Given the description of an element on the screen output the (x, y) to click on. 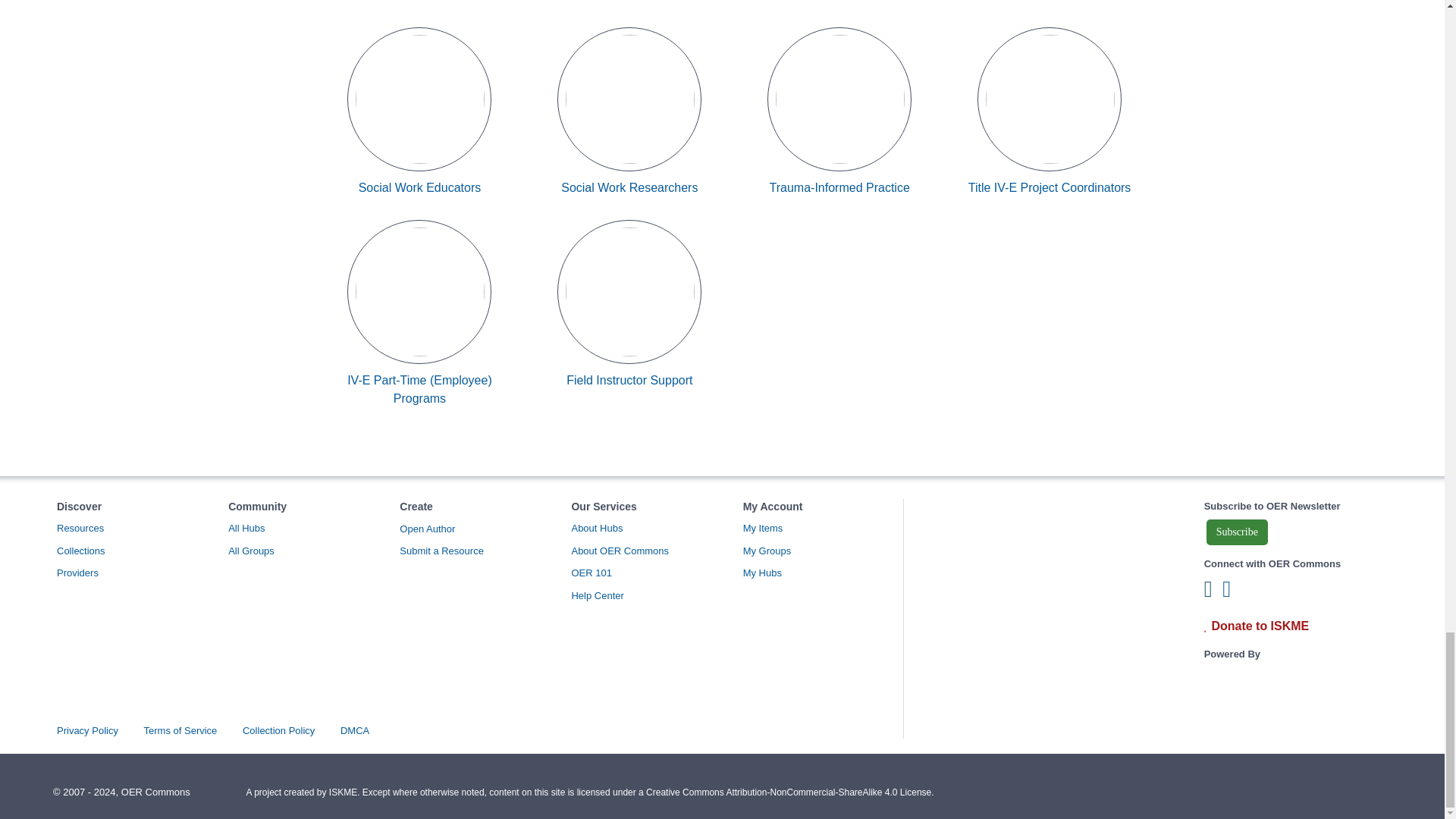
ISKME (1272, 703)
Subscribe to OER Newsletter (1237, 532)
